Given the description of an element on the screen output the (x, y) to click on. 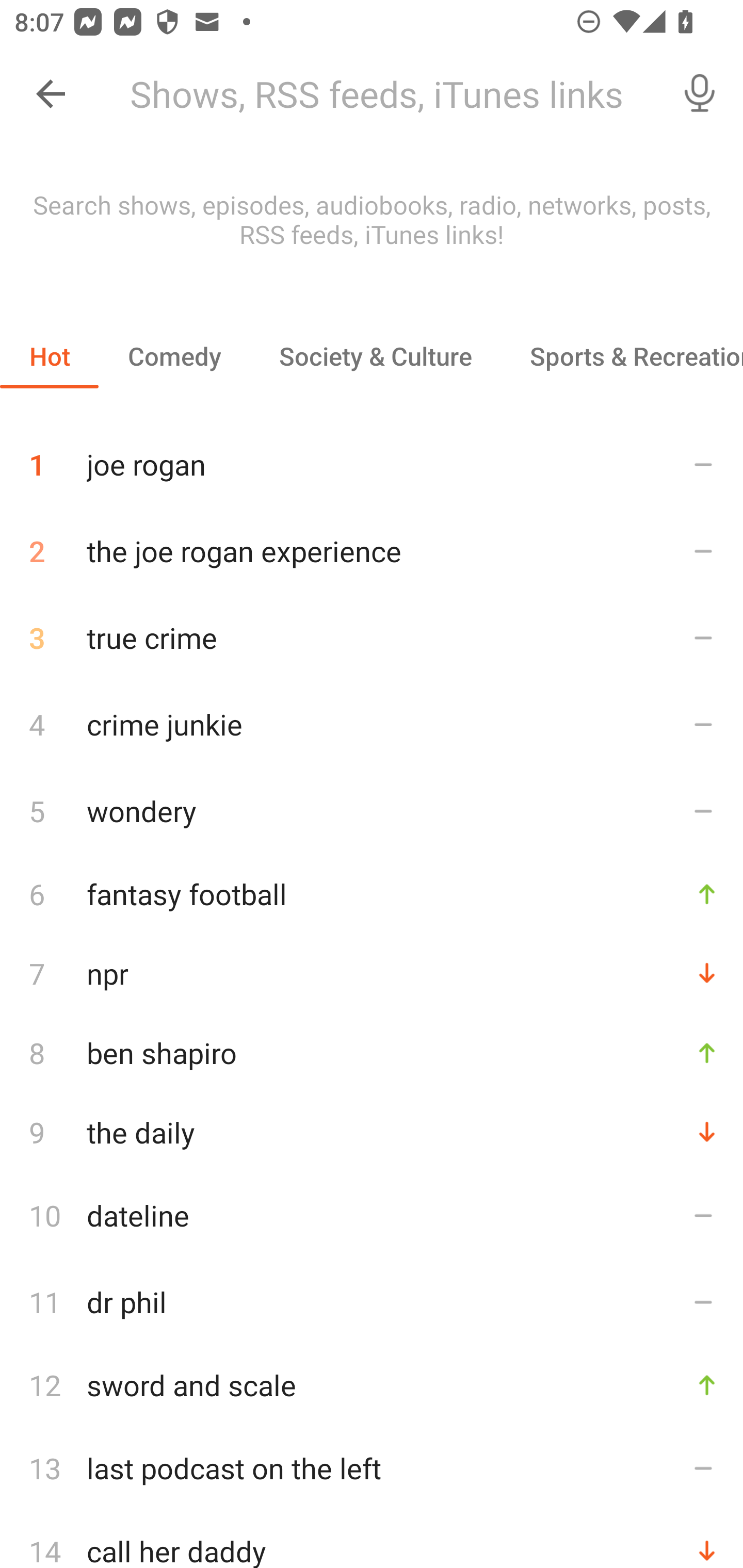
Collapse (50, 93)
Voice Search (699, 93)
Shows, RSS feeds, iTunes links (385, 94)
Hot (49, 355)
Comedy (173, 355)
Society & Culture (374, 355)
Sports & Recreation (621, 355)
1 joe rogan (371, 457)
2 the joe rogan experience (371, 551)
3 true crime (371, 637)
4 crime junkie (371, 723)
5 wondery (371, 810)
6 fantasy football (371, 893)
7 npr (371, 972)
8 ben shapiro (371, 1052)
9 the daily (371, 1131)
10 dateline (371, 1215)
11 dr phil (371, 1302)
12 sword and scale (371, 1385)
13 last podcast on the left (371, 1468)
14 call her daddy (371, 1539)
